Given the description of an element on the screen output the (x, y) to click on. 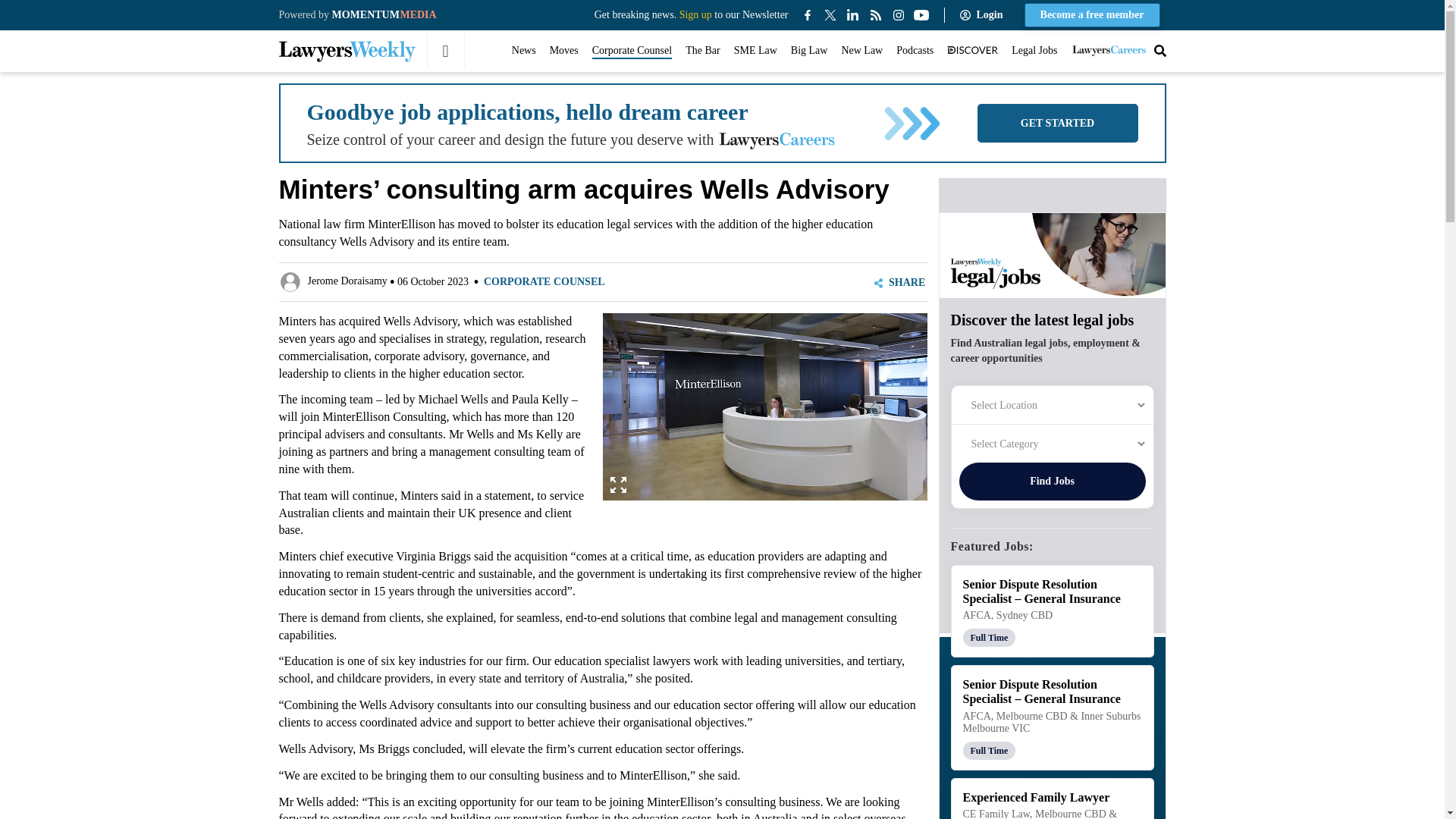
Sign up (695, 14)
Become a free member (1092, 15)
MOMENTUM MEDIA (383, 14)
Login (984, 15)
